Given the description of an element on the screen output the (x, y) to click on. 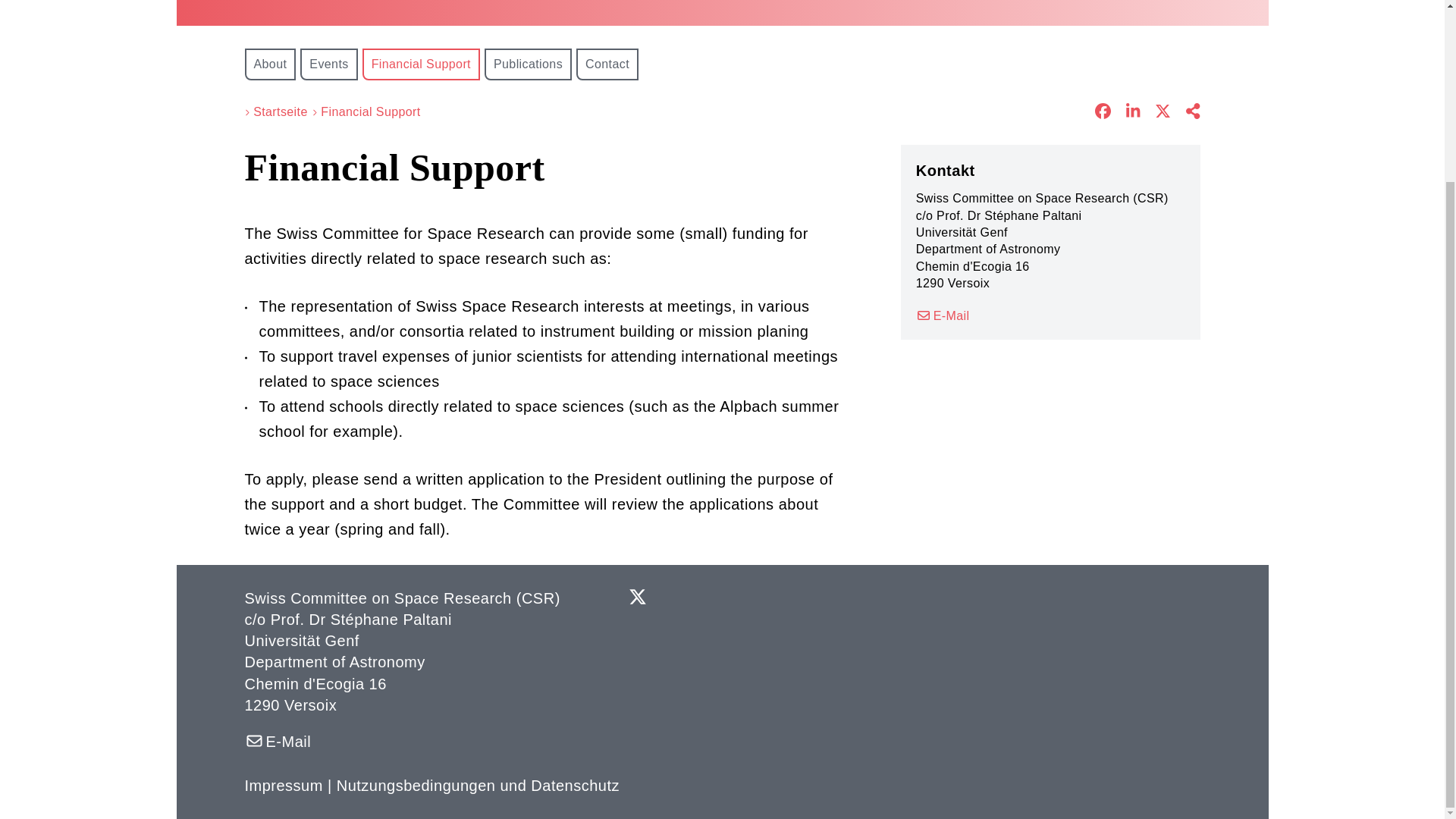
Contact (607, 63)
X (637, 599)
Events (328, 63)
Startseite (280, 112)
E-Mail (277, 741)
Nutzungsbedingungen und Datenschutz (478, 785)
E-Mail (942, 315)
Publications (528, 63)
Impressum (282, 785)
Financial Support (421, 63)
Financial Support (370, 112)
About (270, 63)
